Given the description of an element on the screen output the (x, y) to click on. 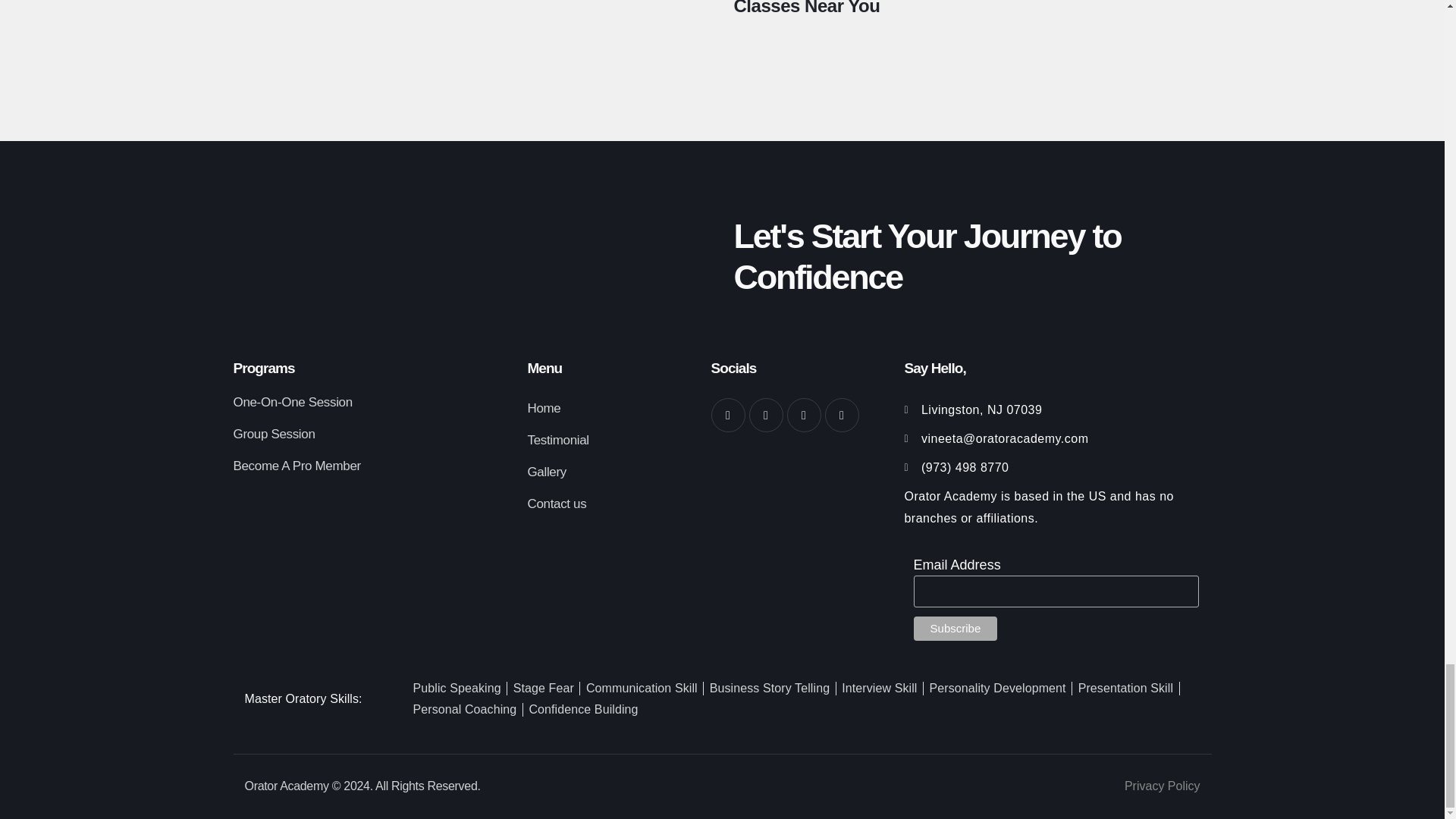
Subscribe (955, 628)
